Given the description of an element on the screen output the (x, y) to click on. 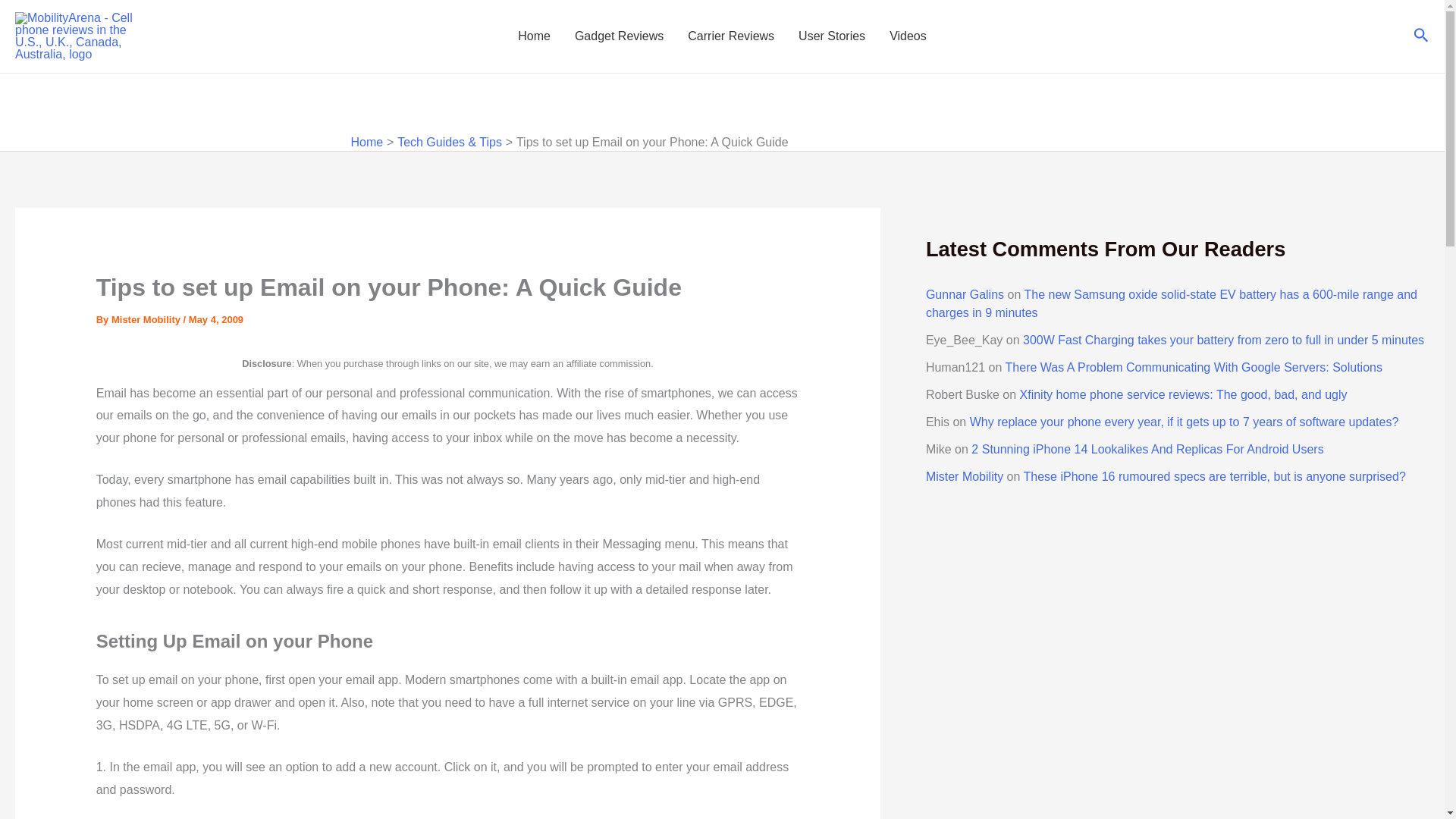
Home (533, 36)
Home (366, 141)
View all posts by Mister Mobility (147, 319)
User Stories (831, 36)
Videos (908, 36)
Gadget Reviews (618, 36)
Carrier Reviews (730, 36)
